Given the description of an element on the screen output the (x, y) to click on. 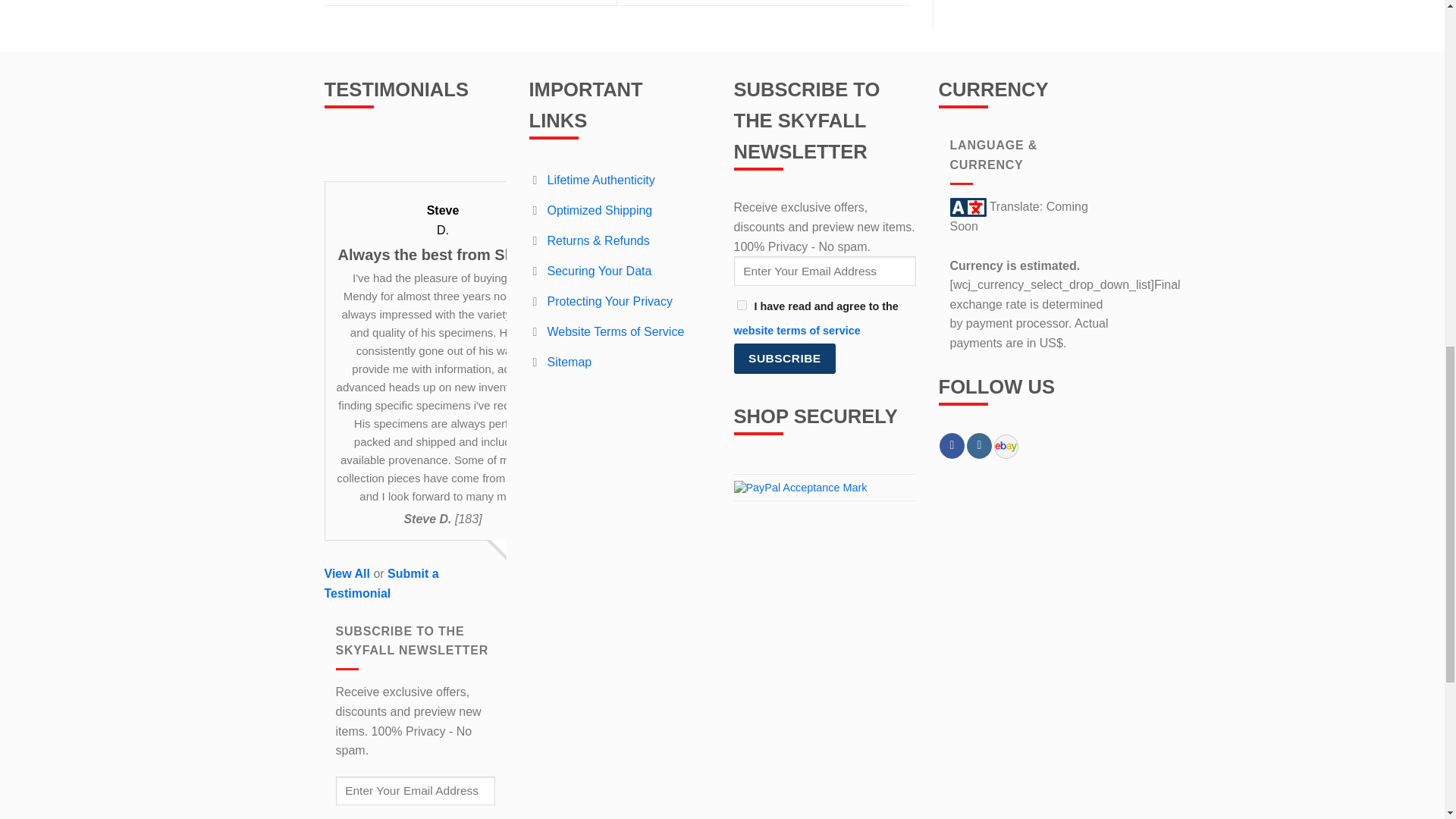
How PayPal Works (800, 486)
Follow on Instagram (978, 445)
Follow on Facebook (951, 445)
Follow on Ebay (1005, 445)
Subscribe (784, 358)
1 (741, 305)
